Given the description of an element on the screen output the (x, y) to click on. 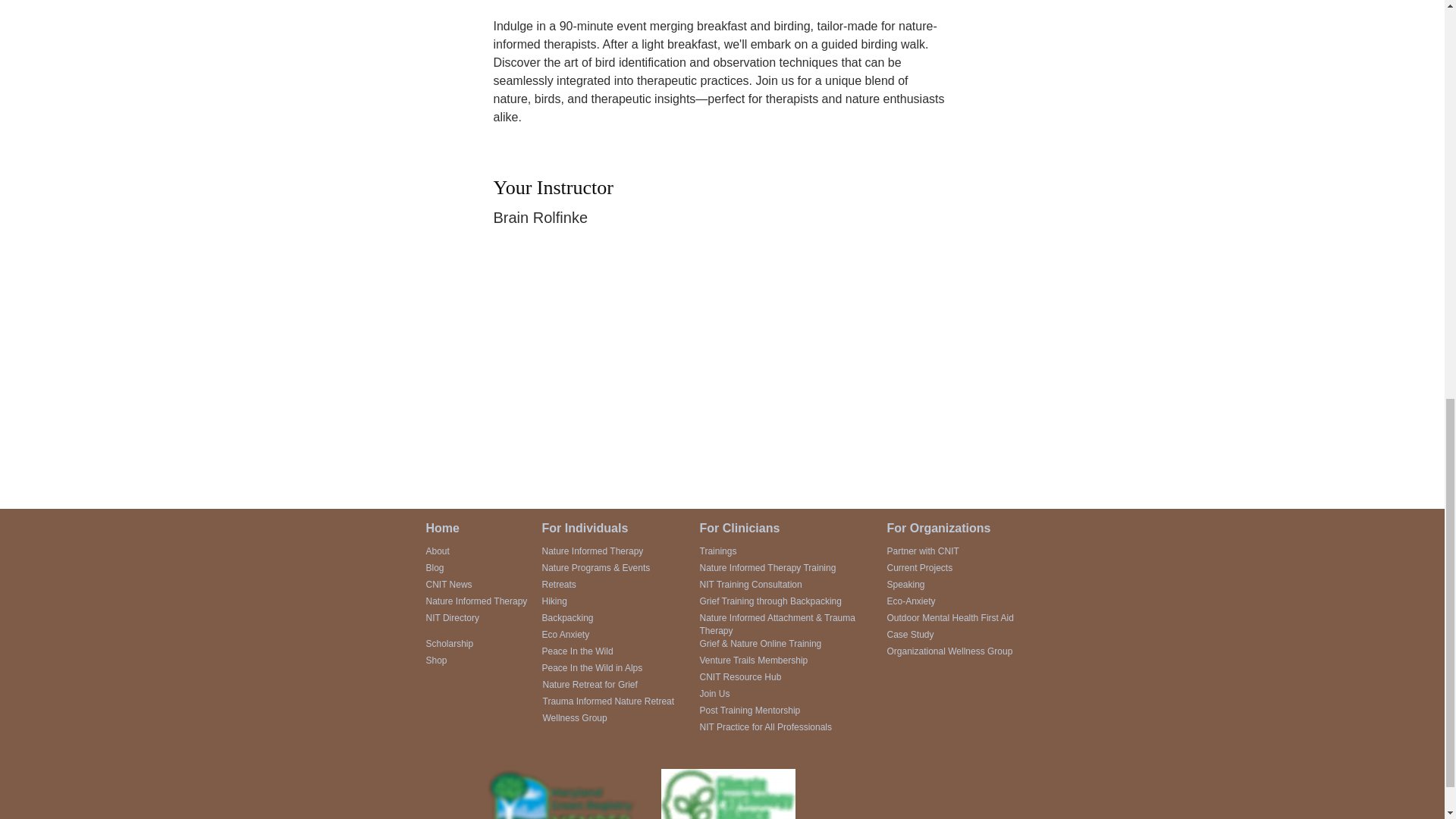
Home (443, 527)
About (437, 551)
CNIT News (448, 584)
Blog (435, 567)
NIT Directory (452, 617)
Nature Informed Therapy (476, 601)
